Given the description of an element on the screen output the (x, y) to click on. 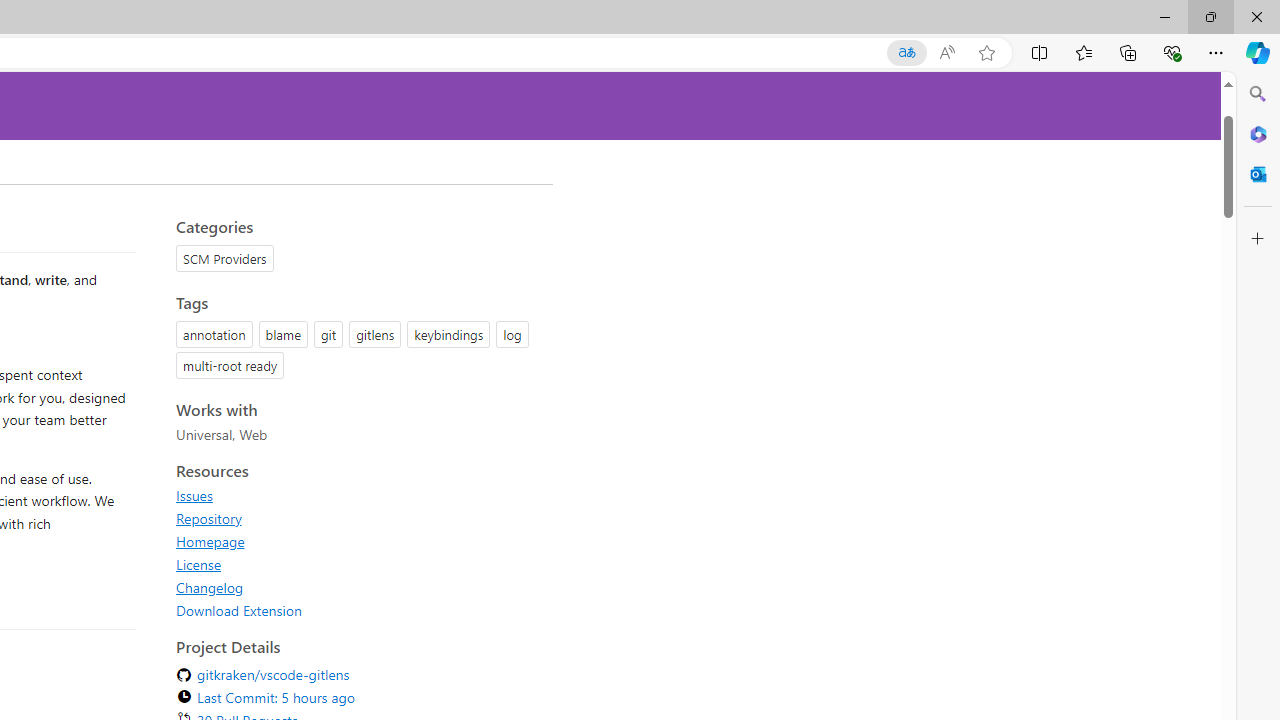
Settings and more (Alt+F) (1215, 52)
Copilot (Ctrl+Shift+.) (1258, 52)
License (198, 564)
Issues (358, 495)
Read aloud this page (Ctrl+Shift+U) (946, 53)
Customize (1258, 239)
Add this page to favorites (Ctrl+D) (986, 53)
